Given the description of an element on the screen output the (x, y) to click on. 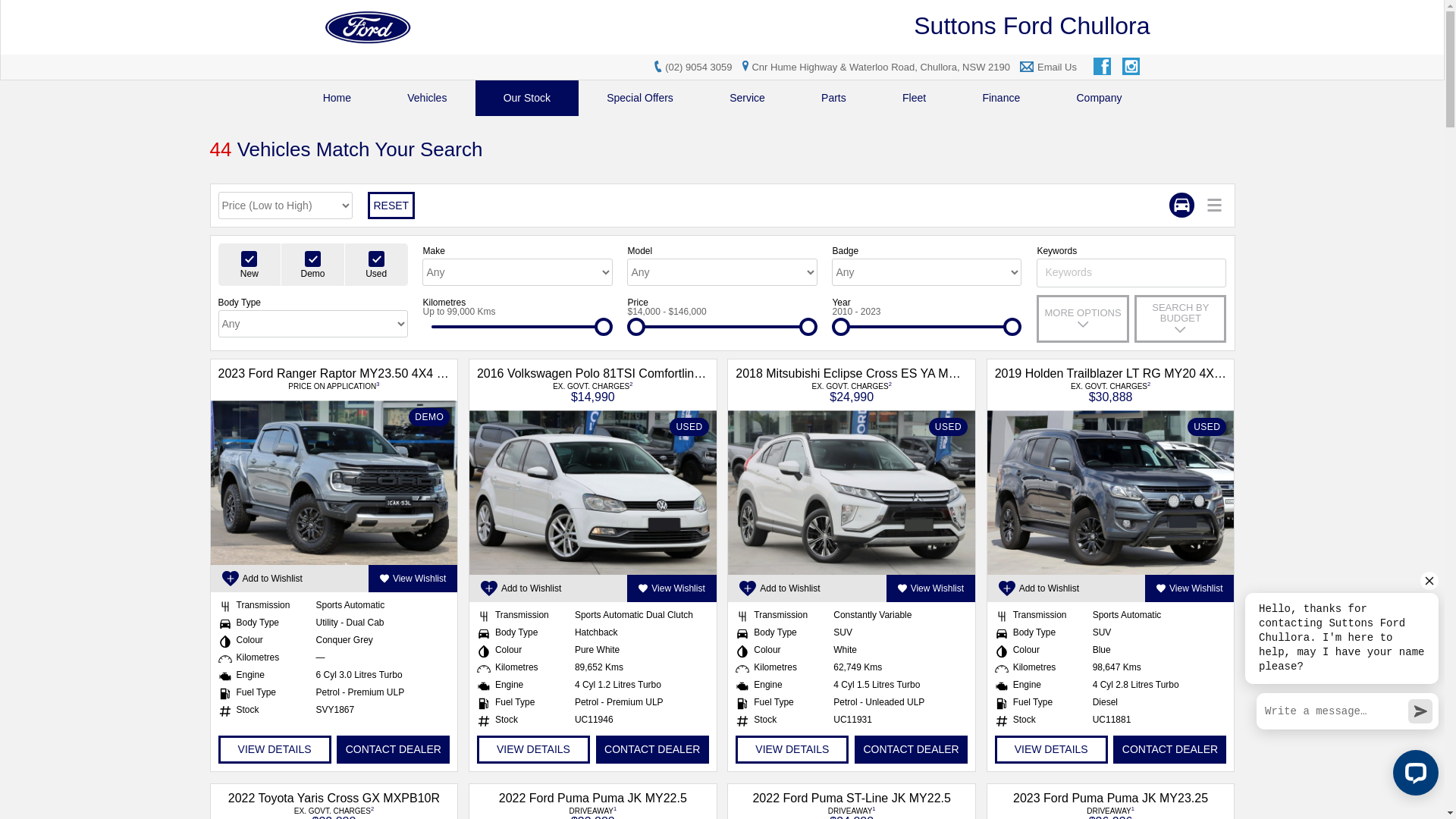
Email Us Element type: text (1056, 66)
CONTACT DEALER Element type: text (652, 749)
SEARCH BY BUDGET Element type: text (1180, 318)
Special Offers Element type: text (639, 98)
Our Stock Element type: text (527, 98)
View Wishlist Element type: text (1189, 588)
EX. GOVT. CHARGES2
$24,990 Element type: text (851, 391)
View Wishlist Element type: text (930, 588)
Facebook Element type: text (1103, 66)
CONTACT DEALER Element type: text (1169, 749)
Service Element type: text (747, 98)
Instagram Element type: text (1132, 66)
EX. GOVT. CHARGES2
$14,990 Element type: text (592, 391)
Home Element type: text (336, 98)
EX. GOVT. CHARGES2
$30,888 Element type: text (1110, 391)
VIEW DETAILS Element type: text (532, 749)
CONTACT DEALER Element type: text (392, 749)
(02) 9054 3059 Element type: text (698, 66)
RESET Element type: text (390, 205)
View Wishlist Element type: text (671, 588)
LiveChat chat widget Element type: hover (1338, 685)
Finance Element type: text (1000, 98)
DEMO Element type: text (334, 482)
VIEW DETAILS Element type: text (1050, 749)
USED Element type: text (851, 492)
USED Element type: text (592, 492)
CONTACT DEALER Element type: text (910, 749)
PRICE ON APPLICATION3 Element type: text (334, 386)
USED Element type: text (1110, 492)
Fleet Element type: text (913, 98)
Parts Element type: text (833, 98)
MORE OPTIONS Element type: text (1082, 318)
Company Element type: text (1098, 98)
Vehicles Element type: text (426, 98)
VIEW DETAILS Element type: text (274, 749)
VIEW DETAILS Element type: text (791, 749)
Cnr Hume Highway & Waterloo Road, Chullora, NSW 2190 Element type: text (873, 66)
View Wishlist Element type: text (412, 578)
